Given the description of an element on the screen output the (x, y) to click on. 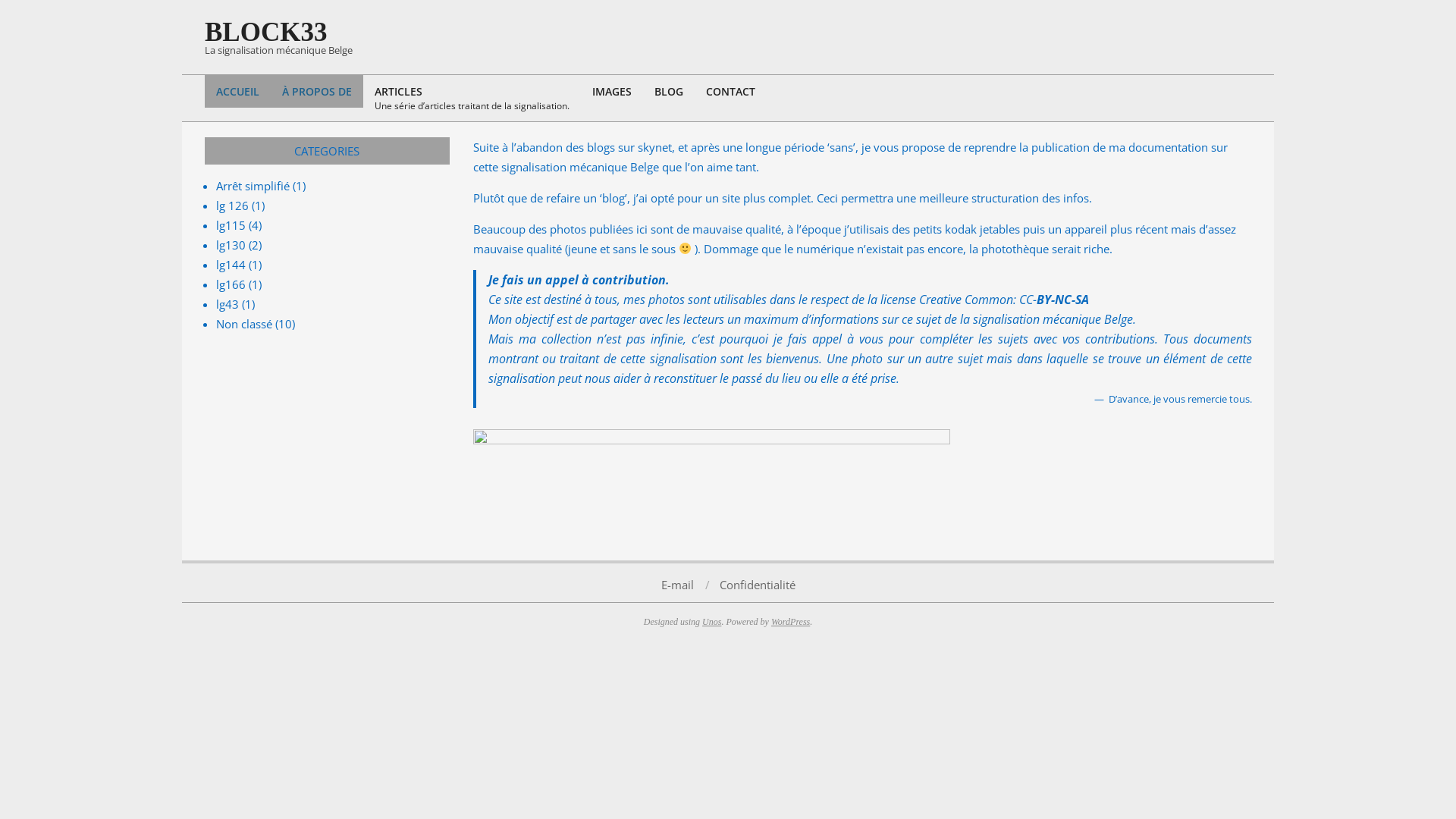
BLOCK33 Element type: text (265, 32)
lg166 Element type: text (230, 283)
lg43 Element type: text (227, 303)
ACCUEIL Element type: text (237, 91)
lg115 Element type: text (230, 224)
WordPress Element type: text (790, 620)
lg144 Element type: text (230, 264)
CONTACT Element type: text (730, 91)
Unos Element type: text (711, 620)
BLOG Element type: text (668, 91)
E-mail Element type: text (677, 583)
lg130 Element type: text (230, 244)
IMAGES Element type: text (611, 91)
lg 126 Element type: text (232, 205)
